Given the description of an element on the screen output the (x, y) to click on. 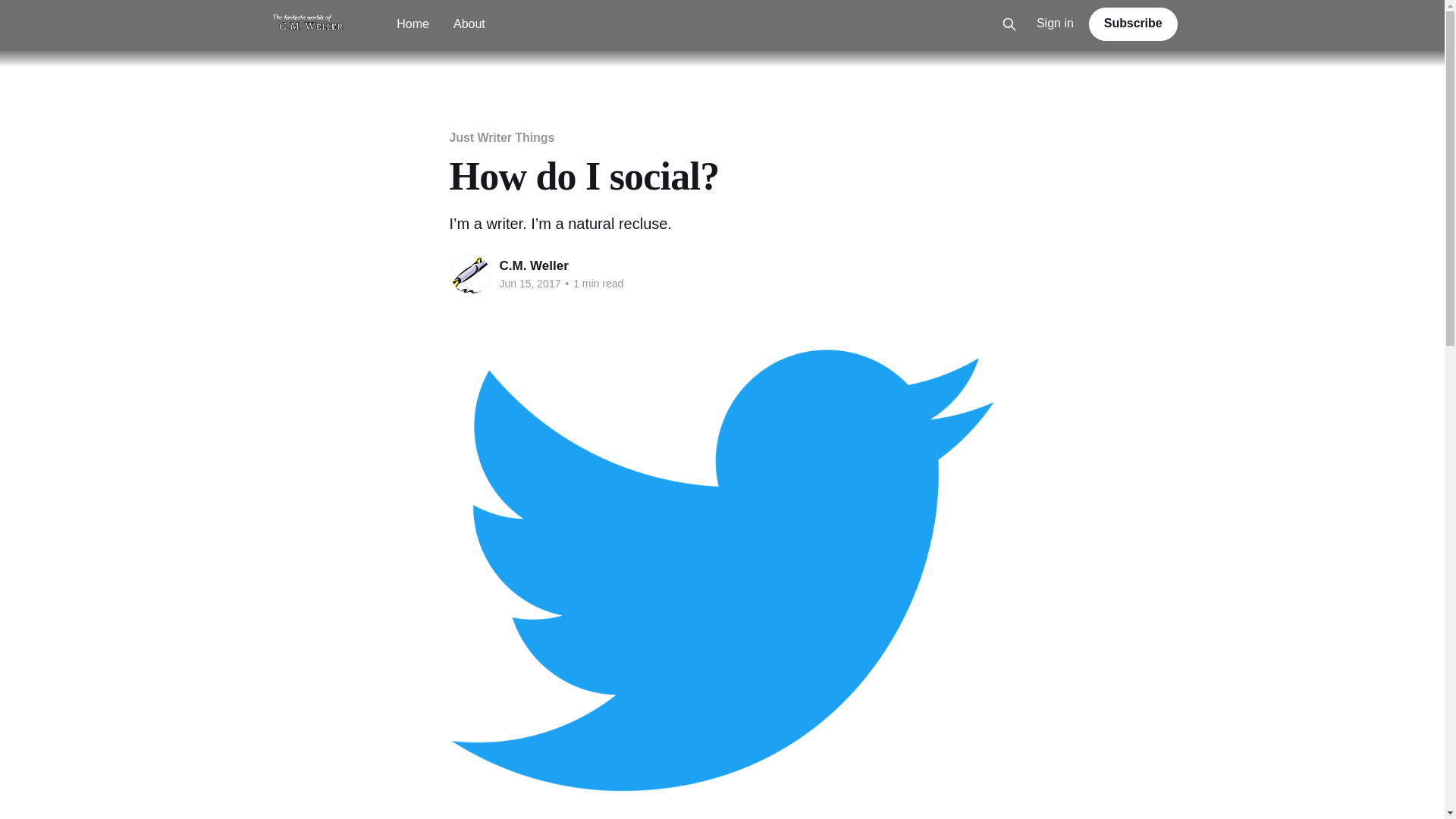
Just Writer Things (501, 137)
Sign in (1055, 23)
Subscribe (1133, 23)
C.M. Weller (533, 265)
About (468, 23)
Home (412, 23)
